Given the description of an element on the screen output the (x, y) to click on. 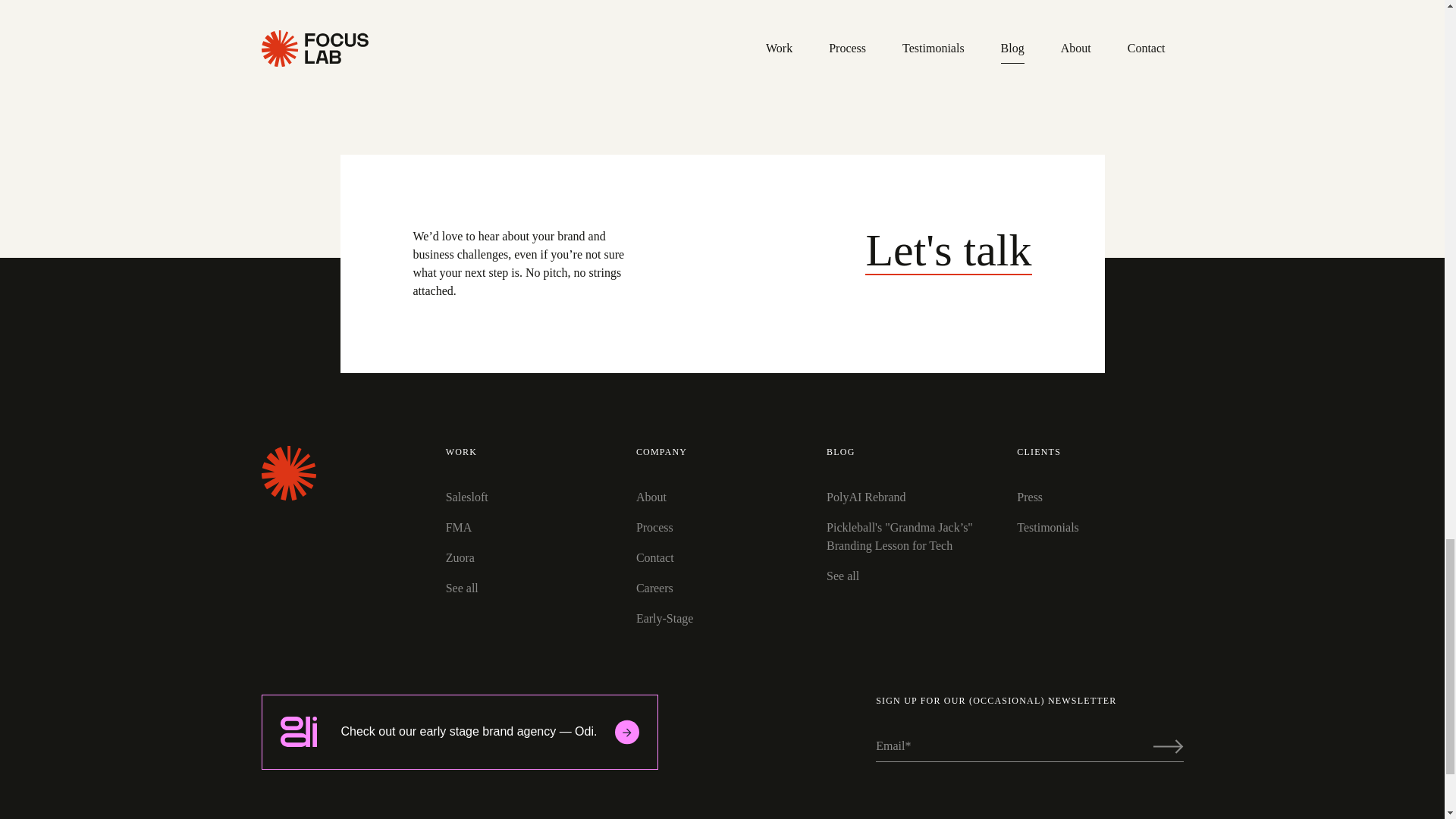
FMA (528, 527)
About (719, 497)
See all (526, 31)
Zuora (528, 588)
Subscribe (528, 557)
Let's talk (1167, 746)
Salesloft (947, 250)
